Given the description of an element on the screen output the (x, y) to click on. 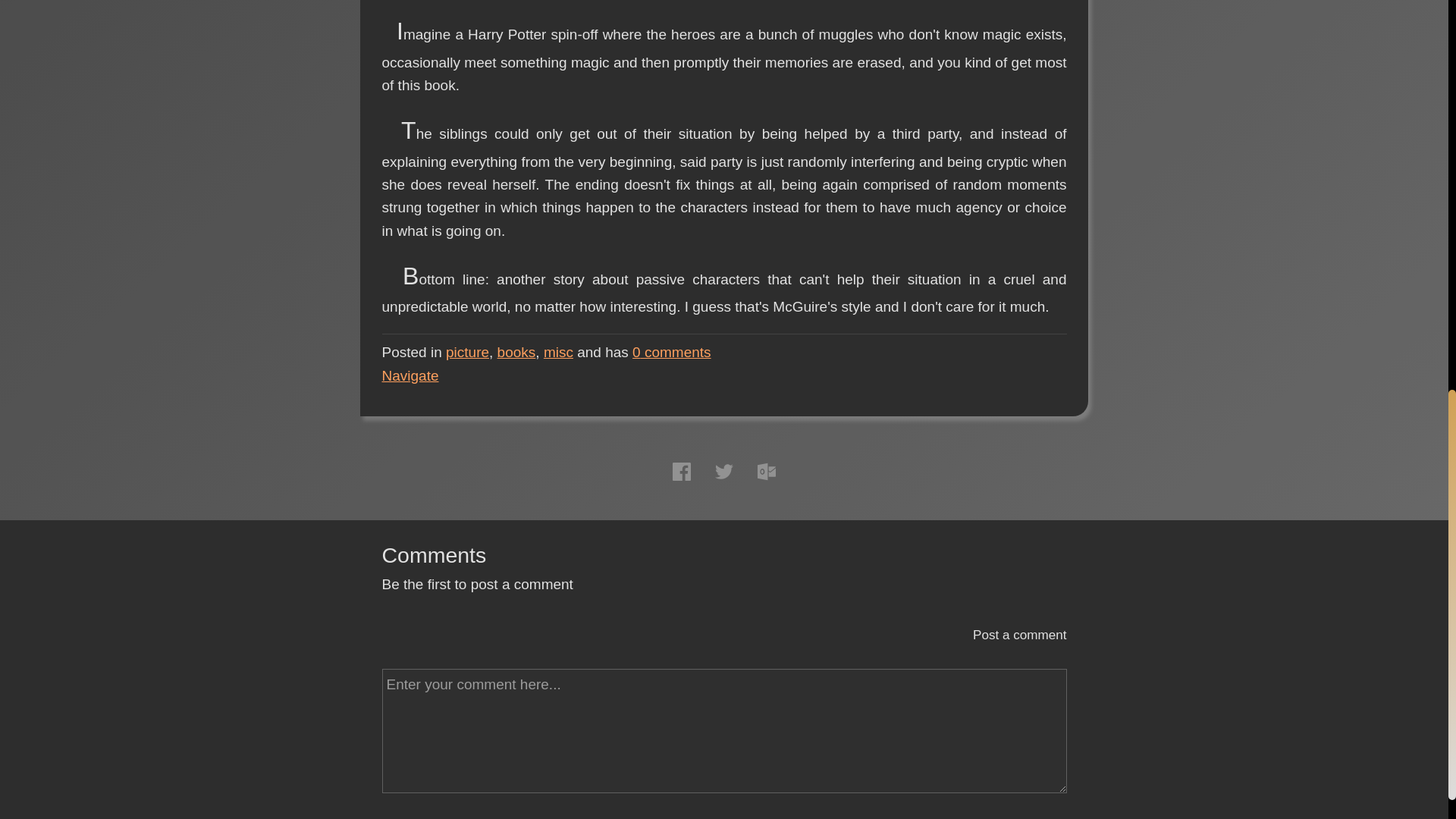
Go to the comments section (671, 351)
Email (766, 471)
Share on Facebook (681, 471)
Share on Twitter (723, 471)
